Given the description of an element on the screen output the (x, y) to click on. 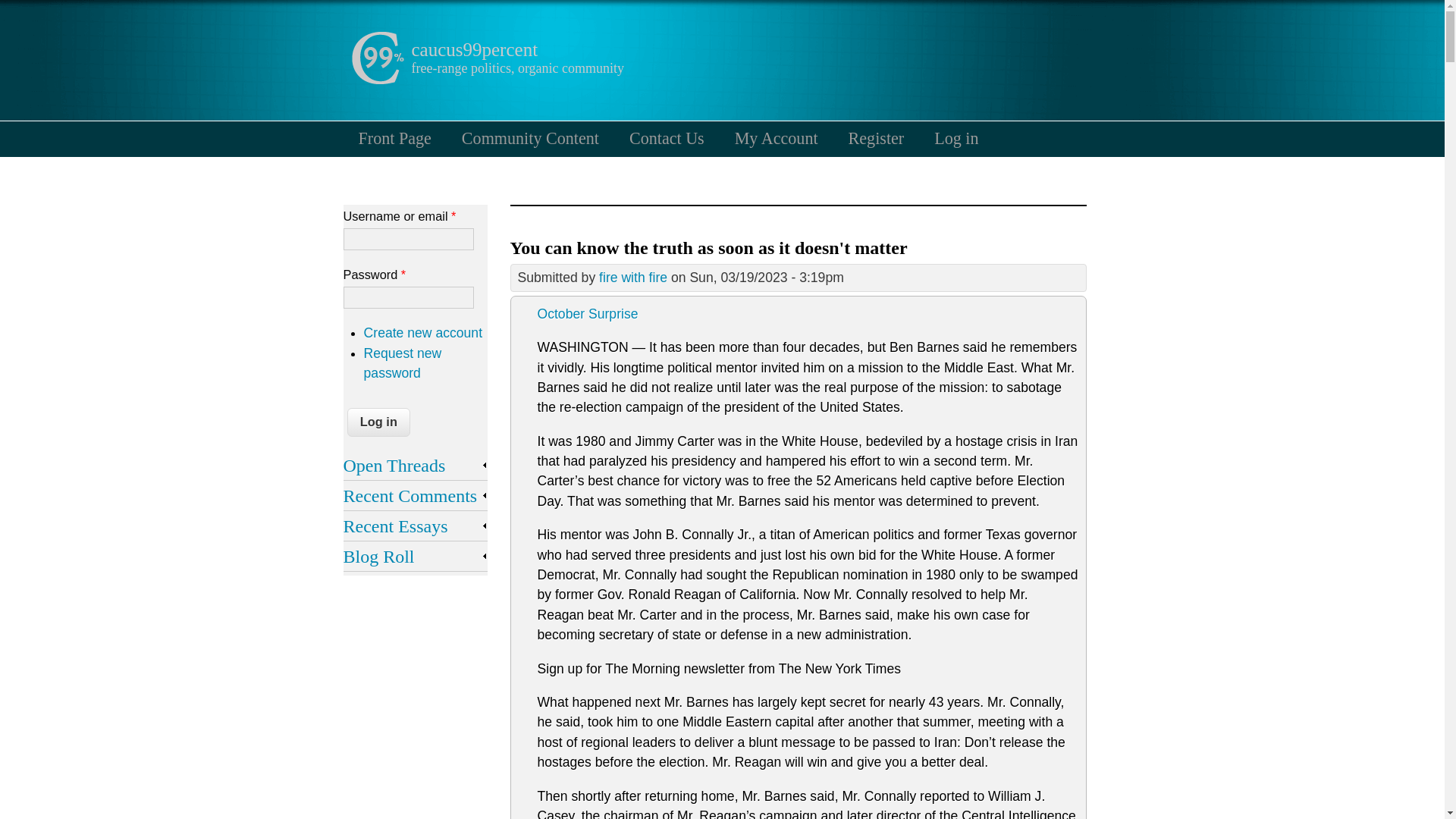
Home (376, 79)
My personal user account (775, 138)
caucus99percent (473, 49)
View user profile. (632, 277)
Contact the Administrator (666, 138)
Log in (955, 138)
My Account (775, 138)
Front Page (393, 138)
Community Content (530, 138)
October Surprise (587, 313)
